Given the description of an element on the screen output the (x, y) to click on. 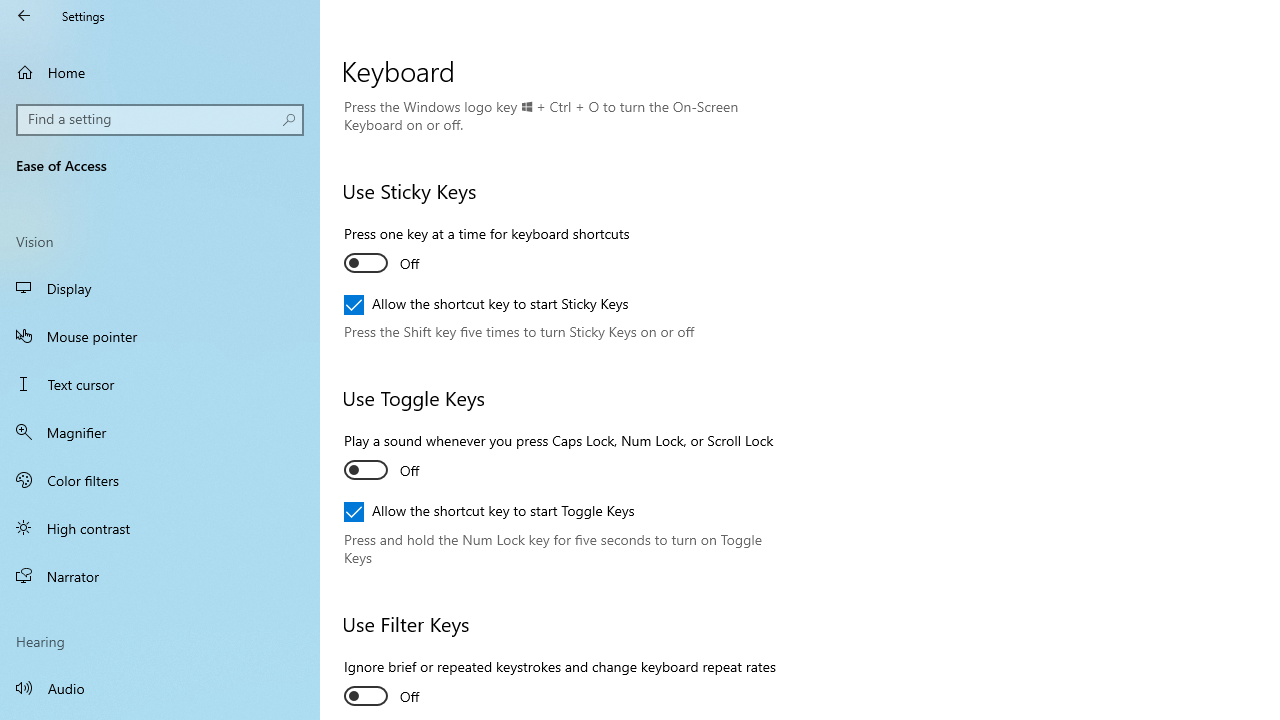
Allow the shortcut key to start Toggle Keys (489, 511)
Mouse pointer (160, 335)
Magnifier (160, 431)
Allow the shortcut key to start Sticky Keys (486, 304)
Press one key at a time for keyboard shortcuts (486, 251)
Back (24, 15)
Narrator (160, 575)
Home (160, 71)
Search box, Find a setting (160, 119)
Audio (160, 687)
Text cursor (160, 384)
Display (160, 287)
Color filters (160, 479)
